Given the description of an element on the screen output the (x, y) to click on. 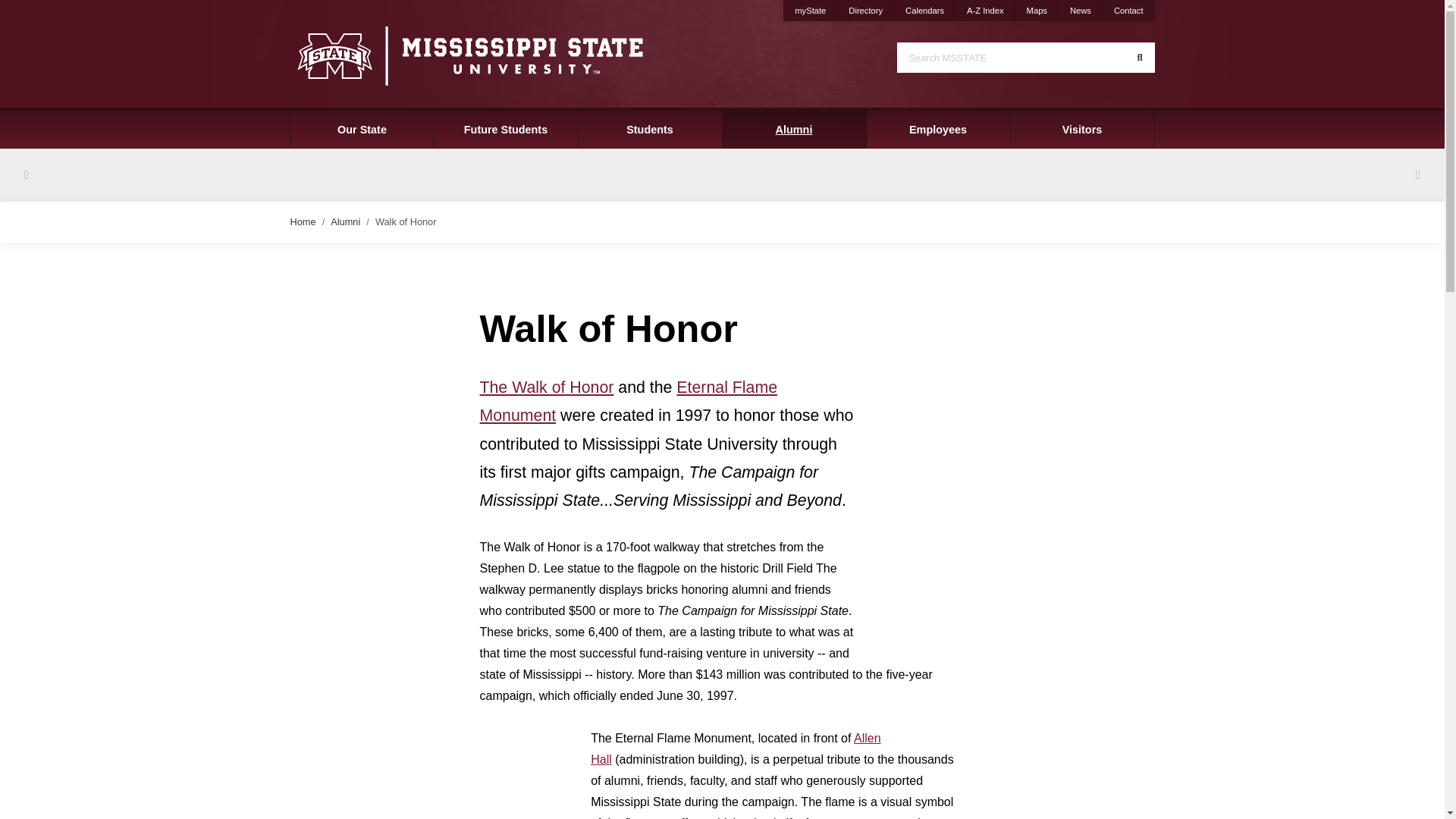
Locate the Eternal Flame on the Campus Map (628, 401)
Mississippi State University (468, 55)
Locate Allen Hall on the Campus Map (735, 748)
Locate the Walk of Honor on the Campus Map (545, 387)
Hover to scroll section menu to the left (26, 174)
Search (1139, 57)
